Given the description of an element on the screen output the (x, y) to click on. 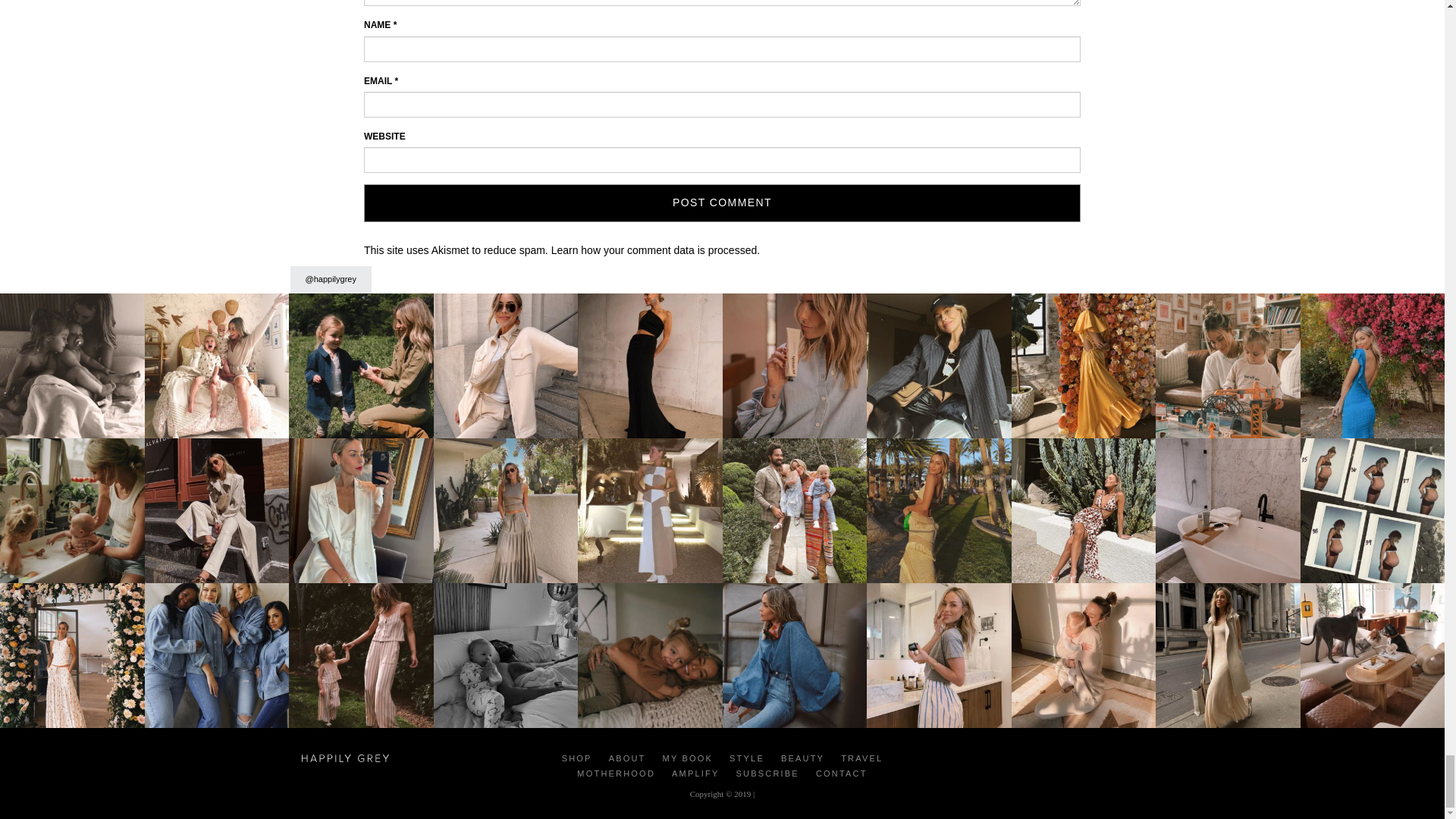
Post Comment (722, 202)
Happily Grey (344, 757)
